Given the description of an element on the screen output the (x, y) to click on. 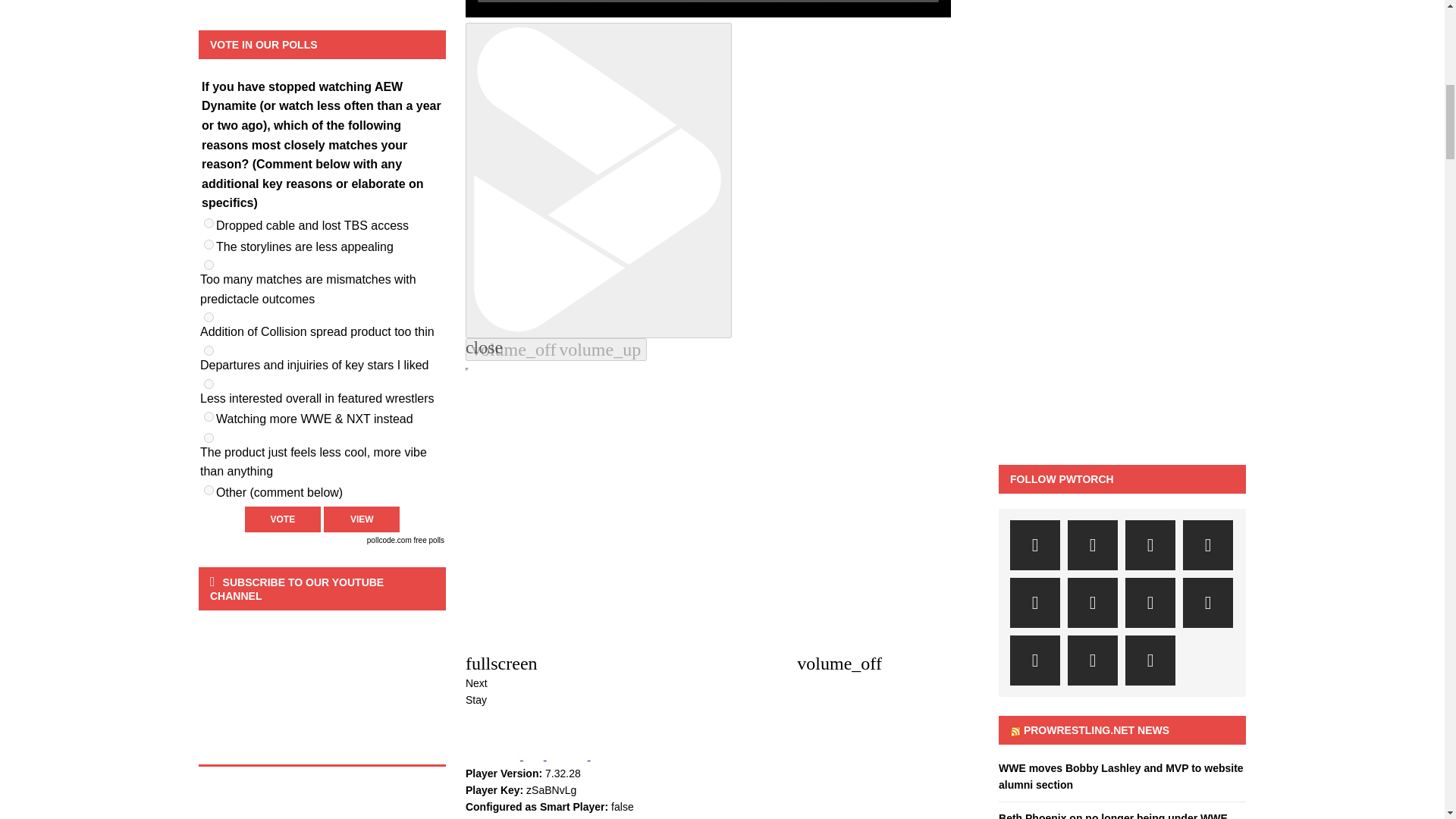
3 (208, 265)
7 (208, 416)
8 (208, 438)
6 (208, 384)
1 (208, 223)
4 (208, 317)
 View  (360, 519)
 Vote  (282, 519)
5 (208, 350)
2 (208, 244)
